Given the description of an element on the screen output the (x, y) to click on. 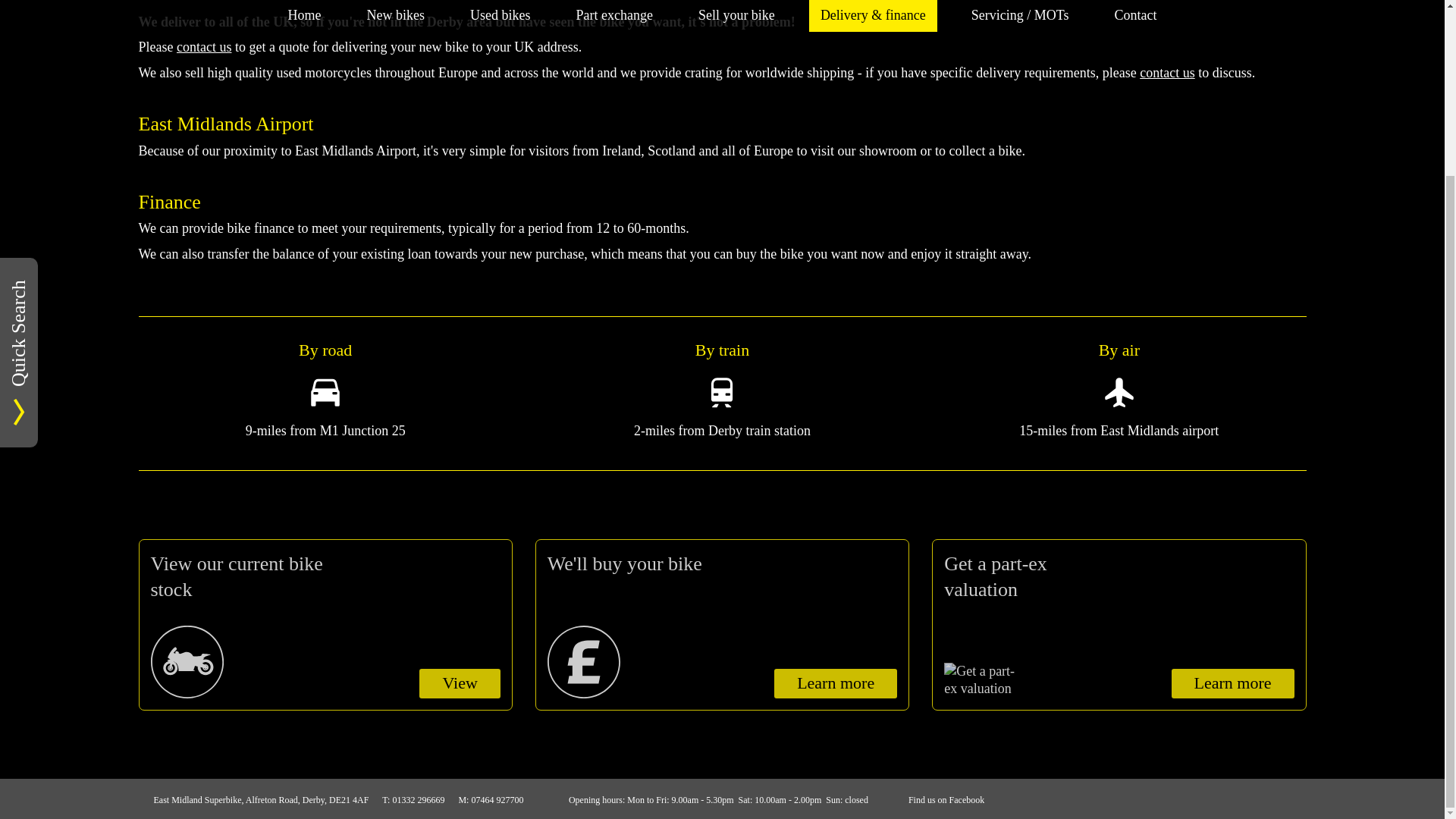
contact us (721, 624)
01332 296669 (1166, 72)
07464 927700 (325, 624)
contact us (417, 799)
Find us on Facebook (1118, 624)
